Given the description of an element on the screen output the (x, y) to click on. 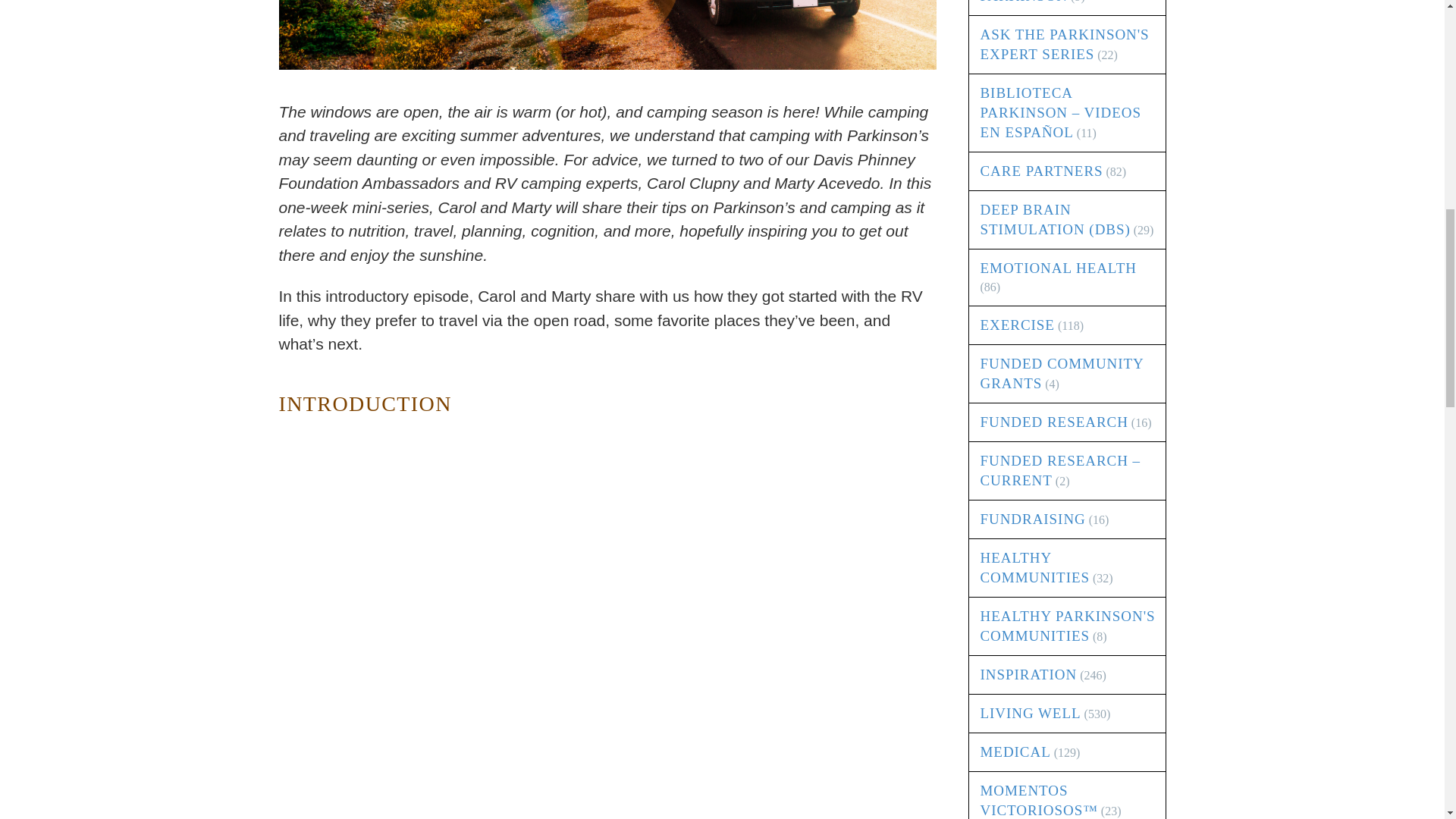
View all posts filed under Apuntes de Parkinson (1026, 2)
View all posts filed under Care Partners (1040, 170)
View all posts filed under Ask the Parkinson's Expert Series (1063, 44)
